Given the description of an element on the screen output the (x, y) to click on. 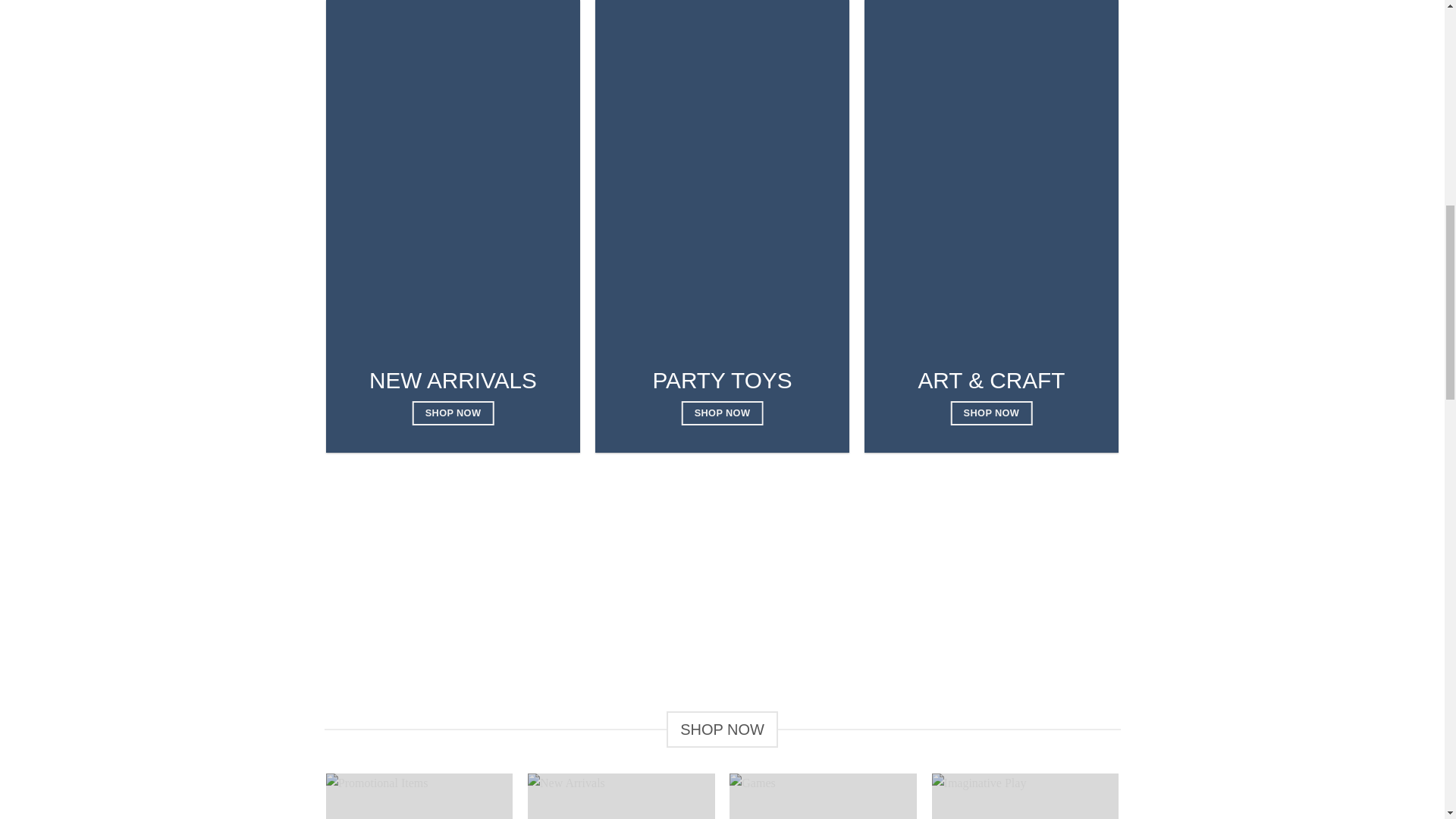
GAMES (823, 796)
SHOP NOW (452, 413)
SHOP NOW (991, 413)
LEARNING (1227, 796)
NEW ARRIVALS (620, 796)
SHOP NOW (721, 413)
IMAGINATIVE PLAY (1025, 796)
PROMOTIONAL ITEMS (419, 796)
